Given the description of an element on the screen output the (x, y) to click on. 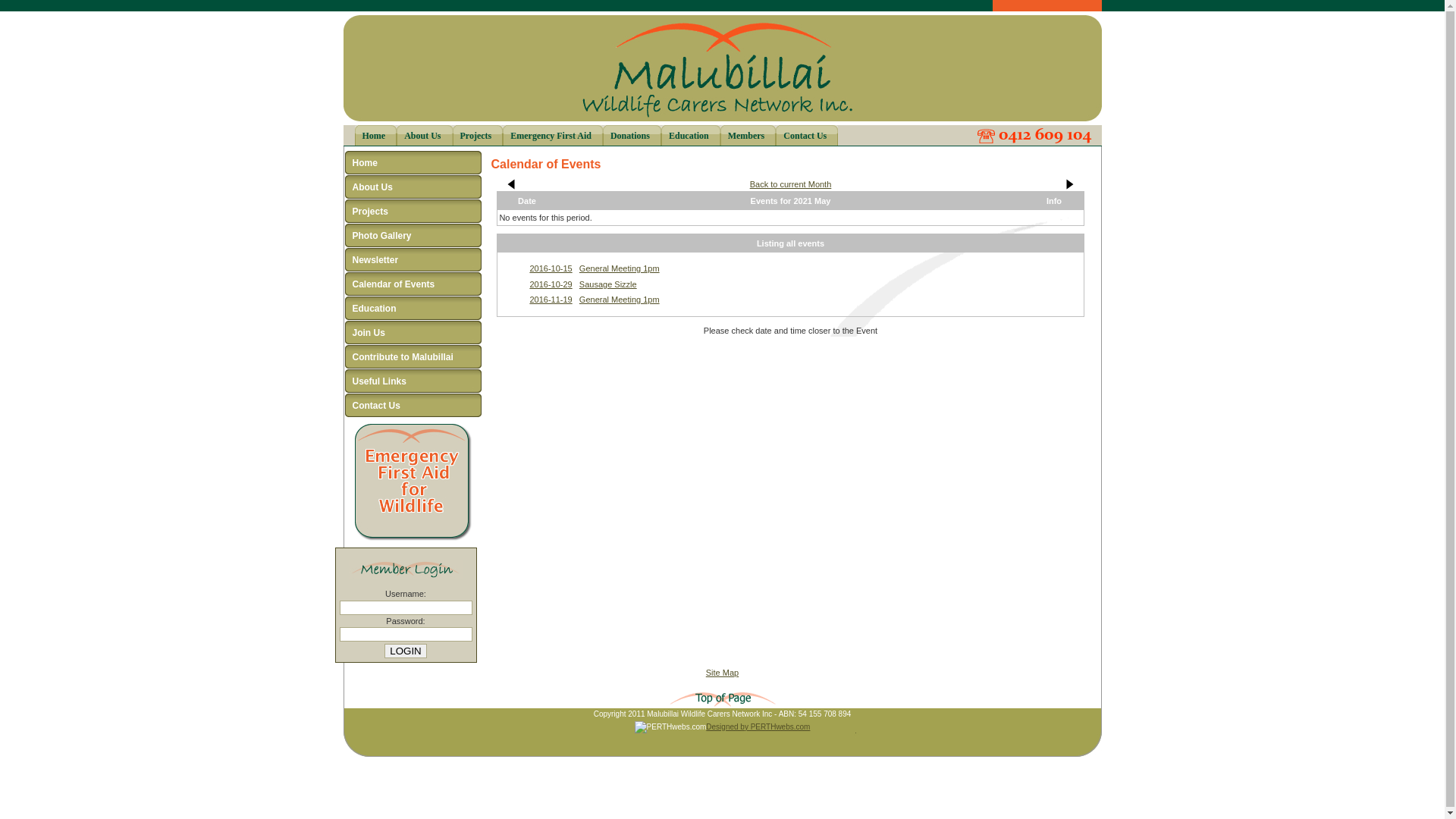
Site Map Element type: text (722, 672)
Contact Us Element type: text (806, 135)
Home Element type: text (375, 135)
Login Element type: text (405, 650)
Newsletter Element type: text (412, 259)
Emergency First Aid Element type: text (552, 135)
Useful Links Element type: text (412, 381)
Contact Us Element type: text (412, 405)
2016-10-29 Element type: text (550, 283)
Education Element type: text (412, 308)
Jun 2021 Element type: hover (1069, 184)
General Meeting 1pm Element type: text (619, 299)
Calendar of Events Element type: text (412, 284)
Projects Element type: text (477, 135)
2016-10-15 Element type: text (550, 268)
About Us Element type: text (423, 135)
Join Us Element type: text (412, 332)
Designed by PERTHwebs.com Element type: text (757, 725)
Donations Element type: text (631, 135)
2016-11-19 Element type: text (550, 299)
Back to current Month Element type: text (790, 183)
Photo Gallery Element type: text (412, 235)
Members Element type: text (748, 135)
Home Element type: text (412, 162)
Sausage Sizzle Element type: text (608, 283)
Projects Element type: text (412, 211)
About Us Element type: text (412, 187)
Contribute to Malubillai Element type: text (412, 357)
General Meeting 1pm Element type: text (619, 268)
Apr 2021 Element type: hover (511, 184)
Education Element type: text (690, 135)
